Given the description of an element on the screen output the (x, y) to click on. 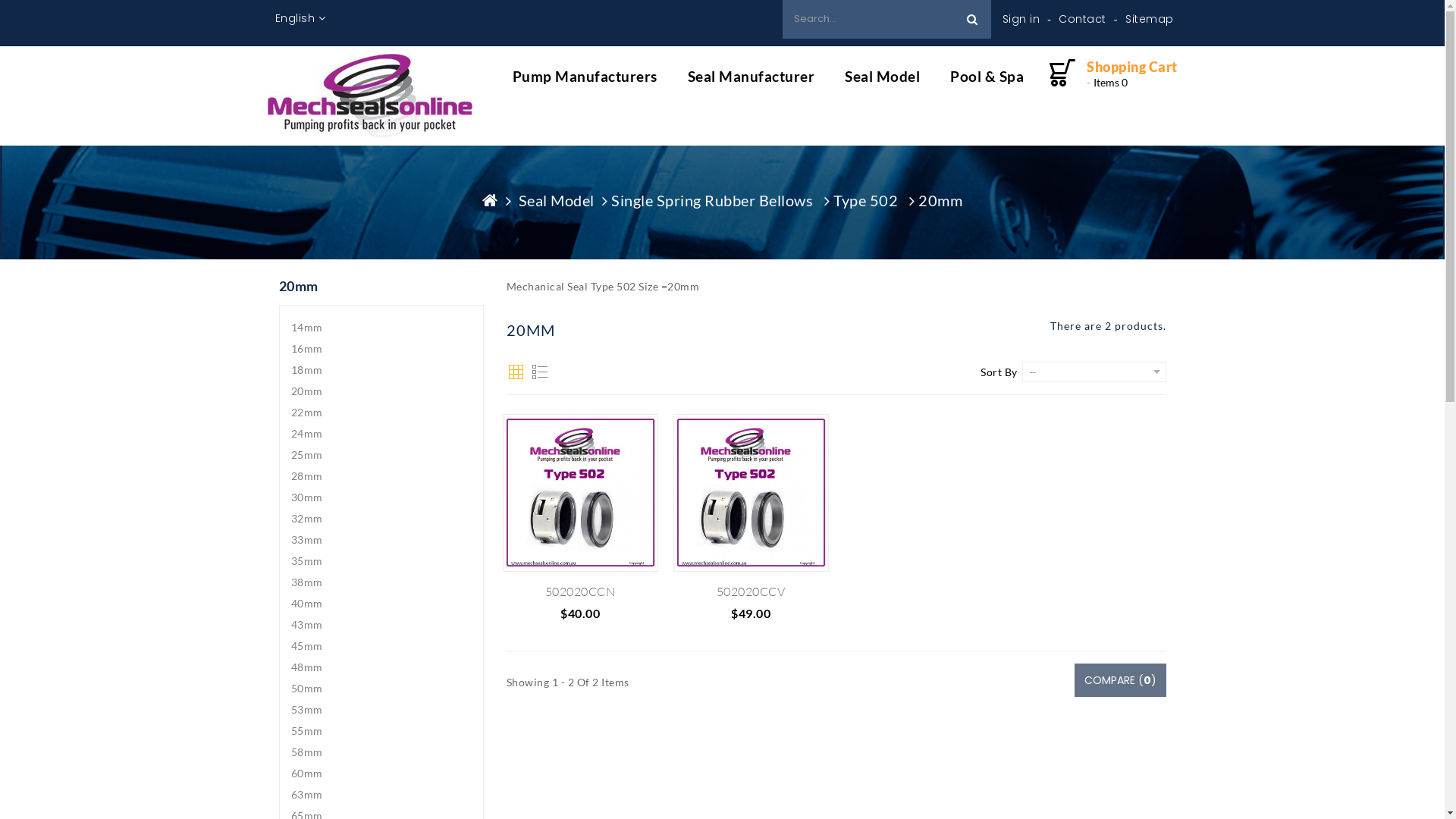
Type 502 Element type: text (875, 200)
20mm Element type: text (381, 390)
43mm Element type: text (381, 624)
22mm Element type: text (381, 412)
502020CCV Element type: text (750, 591)
Grid Element type: hover (515, 371)
14mm Element type: text (381, 327)
55mm Element type: text (381, 730)
Contact Element type: text (1076, 18)
63mm Element type: text (381, 794)
28mm Element type: text (381, 475)
Seal Manufacturer Element type: text (751, 83)
Pool & Spa Element type: text (986, 83)
30mm Element type: text (381, 497)
Mech Seals Online Element type: hover (368, 93)
502020CCN Element type: text (580, 591)
18mm Element type: text (381, 369)
25mm Element type: text (381, 454)
38mm Element type: text (381, 582)
Seal Model Element type: text (564, 200)
32mm Element type: text (381, 518)
24mm Element type: text (381, 433)
Shopping Cart
- Items 0 Element type: text (1131, 75)
Sign in Element type: text (1021, 18)
COMPARE (0) Element type: text (1119, 679)
502020CCV Element type: hover (750, 492)
60mm Element type: text (381, 773)
48mm Element type: text (381, 666)
50mm Element type: text (381, 688)
45mm Element type: text (381, 645)
16mm Element type: text (381, 348)
Return to Home Element type: hover (498, 199)
Seal Model Element type: text (882, 83)
502020CCN Element type: hover (580, 492)
33mm Element type: text (381, 539)
53mm Element type: text (381, 709)
Single Spring Rubber Bellows Element type: text (722, 200)
Sitemap Element type: text (1143, 18)
35mm Element type: text (381, 560)
58mm Element type: text (381, 751)
40mm Element type: text (381, 603)
Pump Manufacturers Element type: text (592, 83)
List Element type: hover (539, 371)
